Given the description of an element on the screen output the (x, y) to click on. 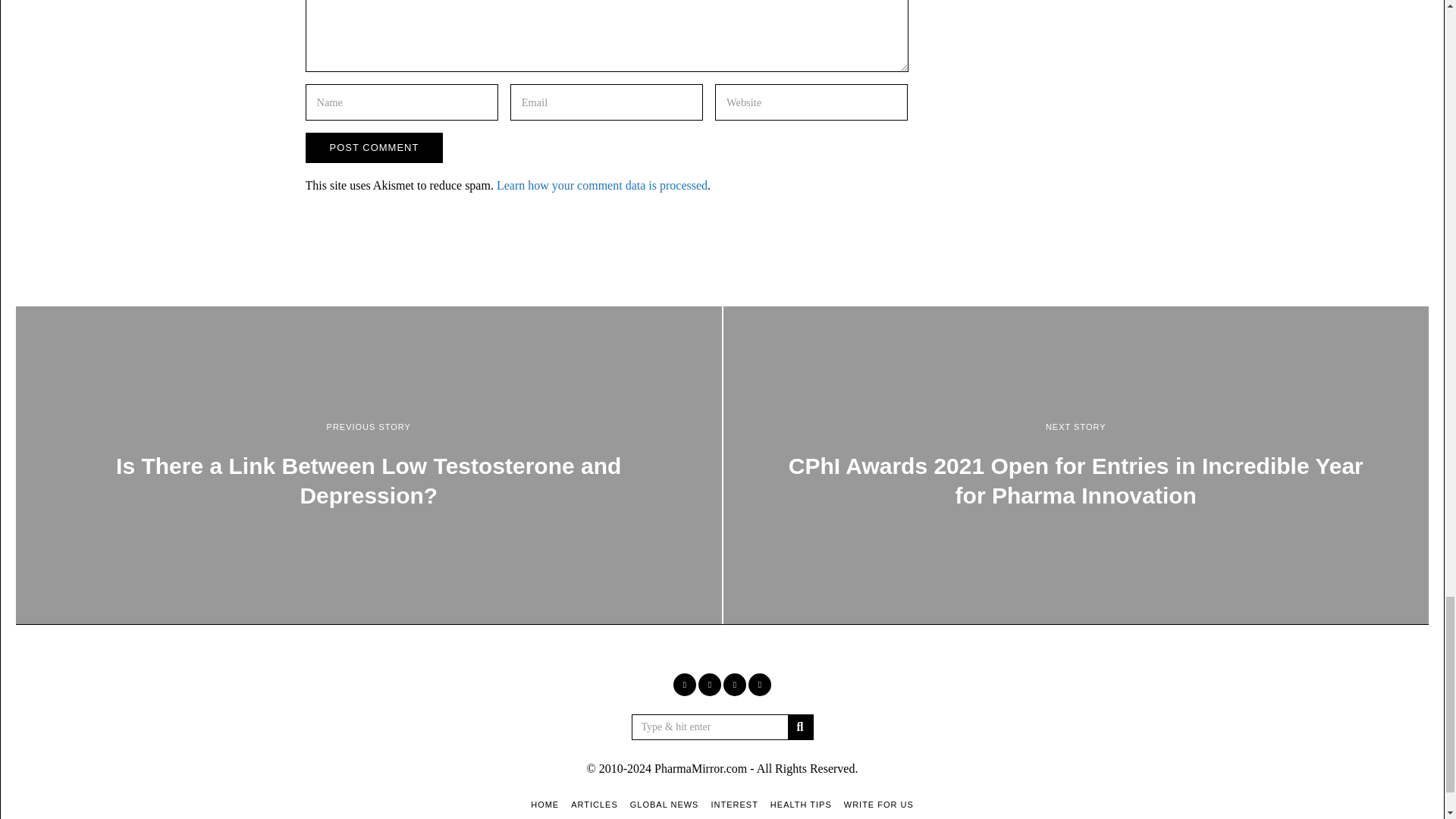
Email (759, 684)
Go (799, 727)
Facebook (683, 684)
Post Comment (373, 147)
LinkedIn (734, 684)
Twitter (709, 684)
